Given the description of an element on the screen output the (x, y) to click on. 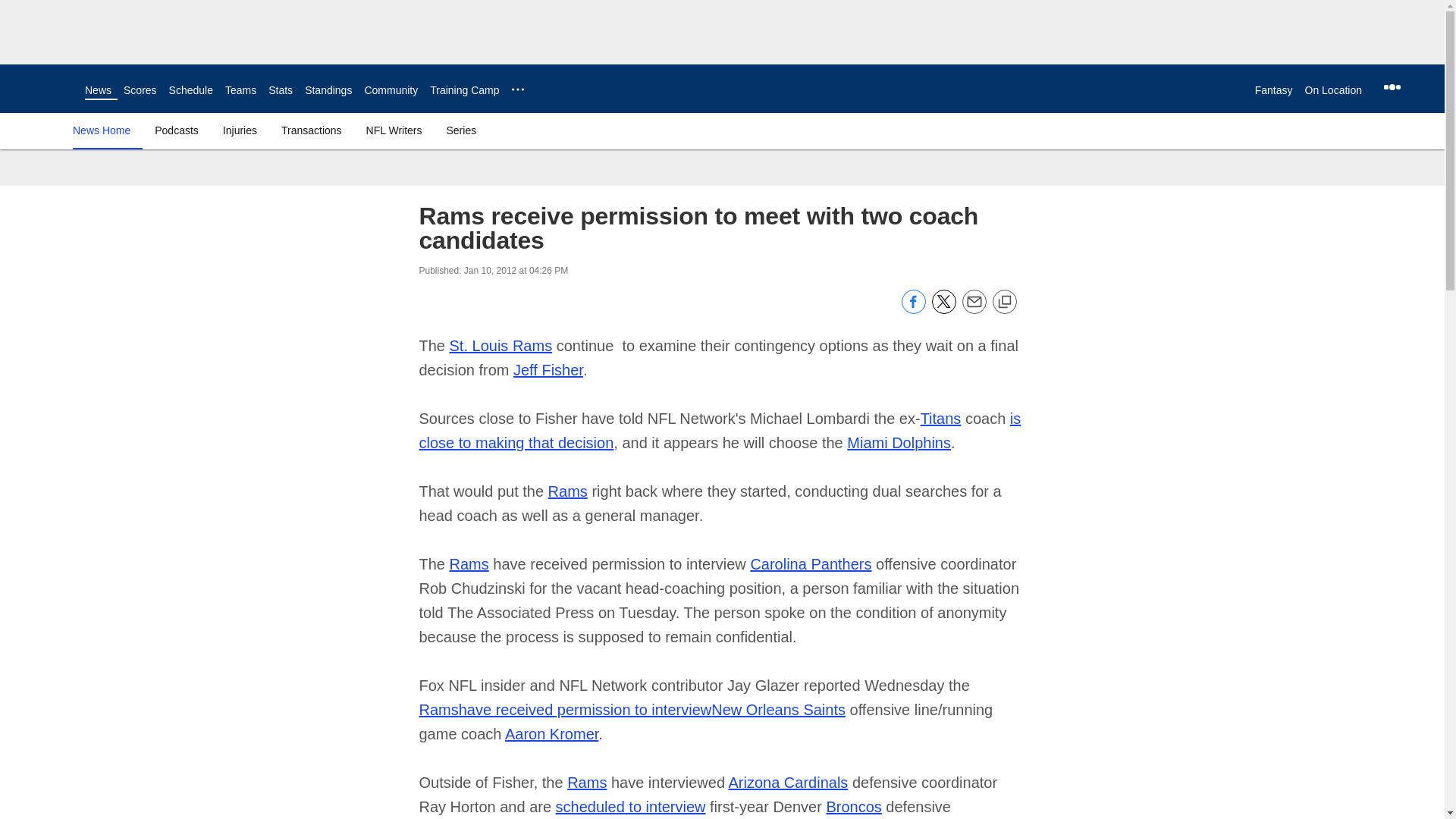
Schedule (190, 90)
Teams (240, 90)
Teams (240, 90)
Schedule (190, 90)
Scores (140, 90)
News (98, 90)
Link to NFL homepage (42, 88)
Stats (279, 90)
Scores (140, 90)
News (98, 90)
